Given the description of an element on the screen output the (x, y) to click on. 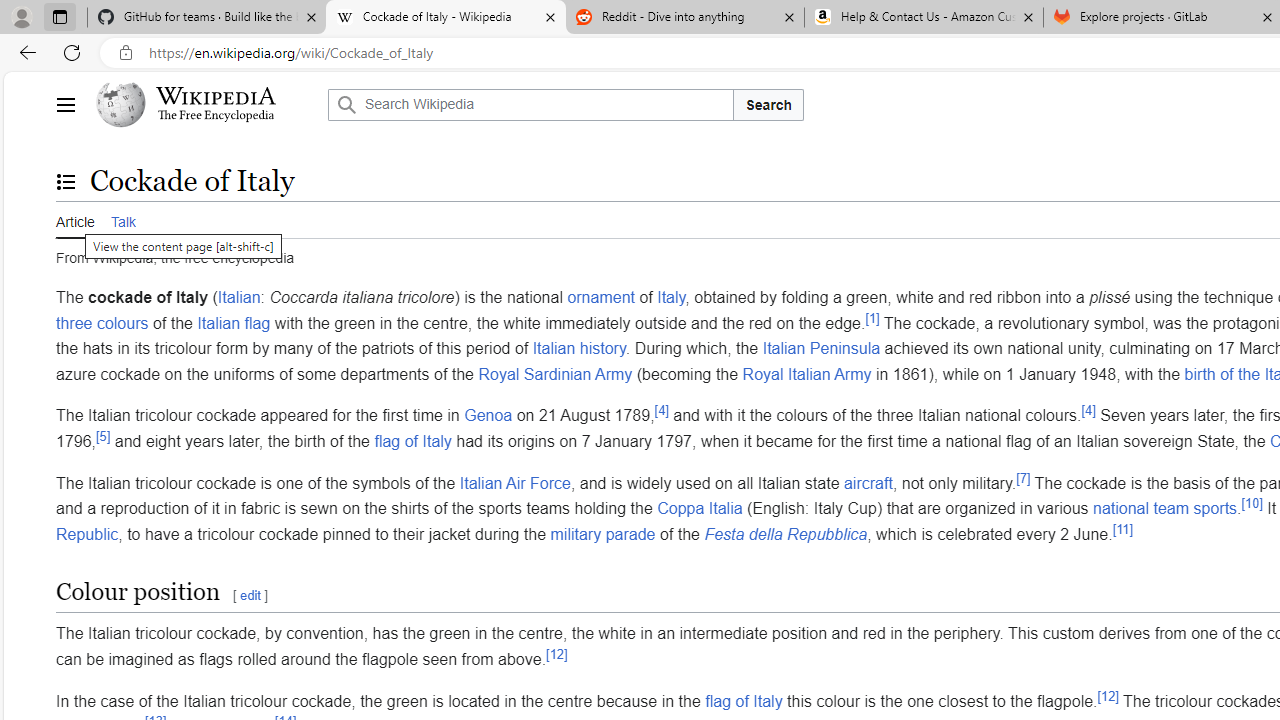
flag of Italy (744, 700)
aircraft (868, 482)
three colours (102, 322)
military parade (602, 533)
edit (250, 596)
[12] (1107, 696)
Article (75, 219)
[4] (1088, 411)
[5] (103, 435)
Italian (239, 297)
Search Wikipedia (530, 104)
Talk (122, 219)
